Given the description of an element on the screen output the (x, y) to click on. 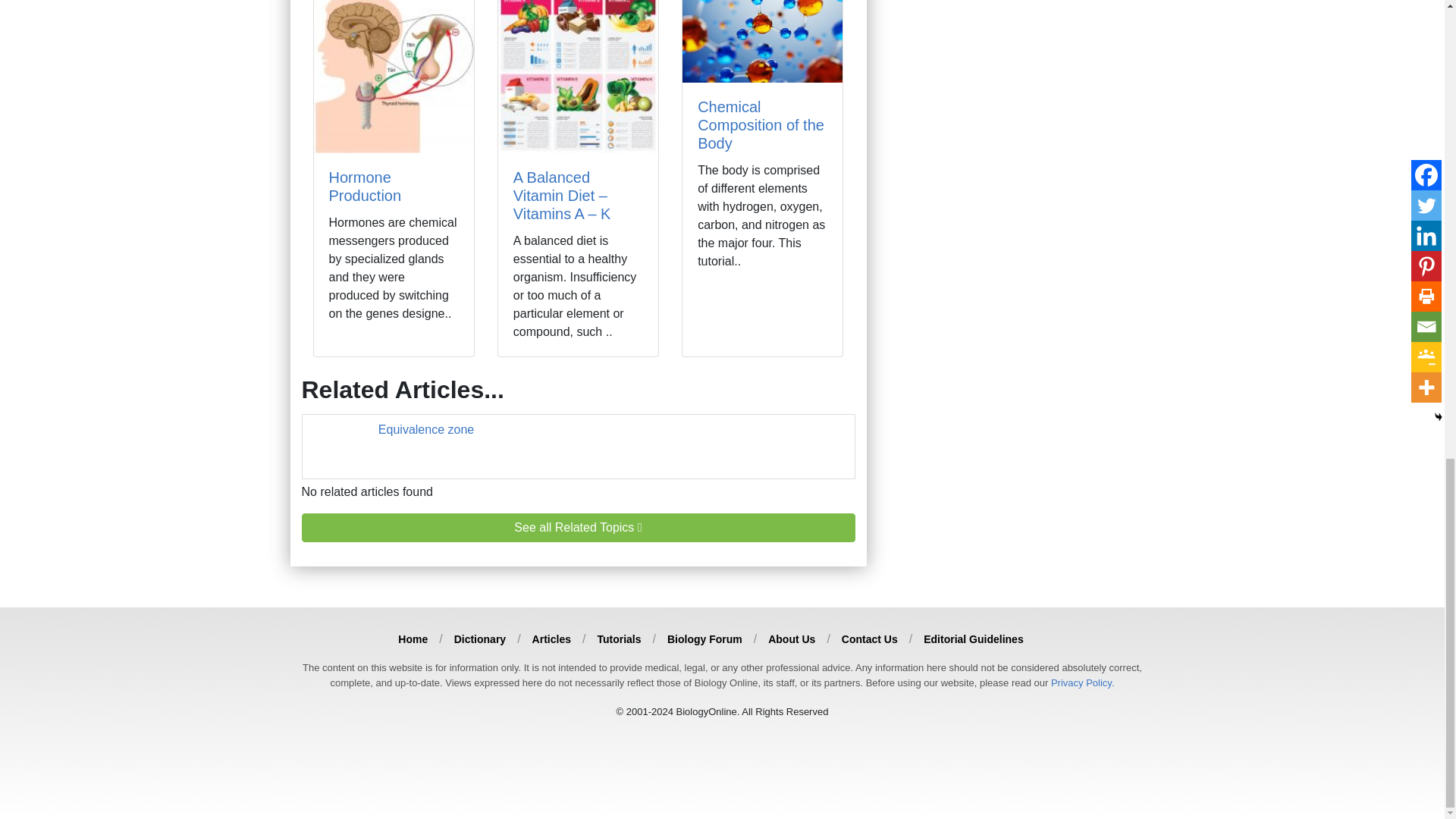
See all Related Topics (578, 527)
Home (412, 639)
Hormone Production (365, 185)
Chemical Composition of the Body (760, 124)
Equivalence zone (426, 429)
Dictionary (479, 639)
